Given the description of an element on the screen output the (x, y) to click on. 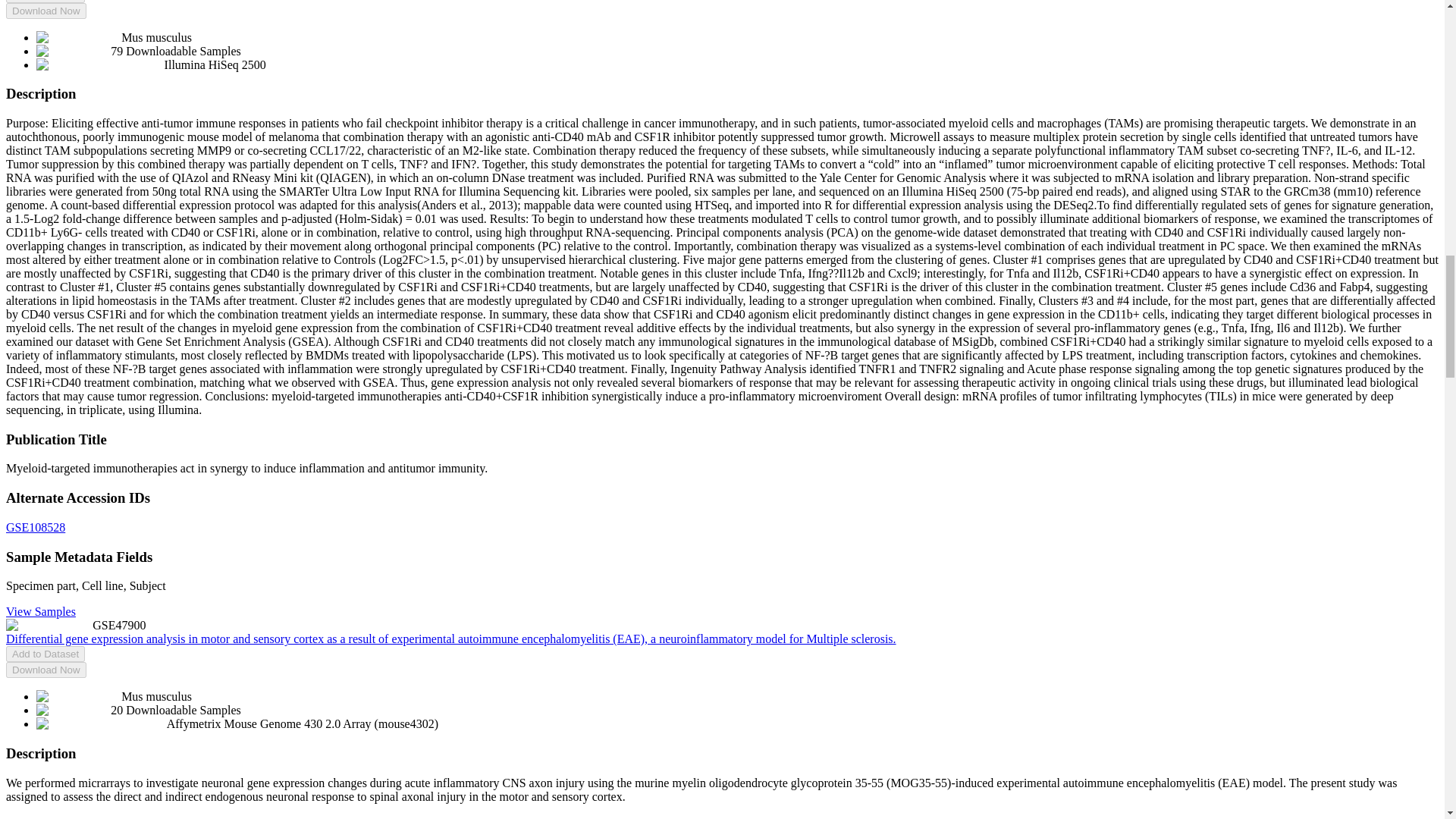
Add to Dataset (44, 653)
GSE108528 (35, 526)
Download Now (45, 669)
Add to Dataset (44, 1)
View Samples (40, 611)
Download Now (45, 10)
